Given the description of an element on the screen output the (x, y) to click on. 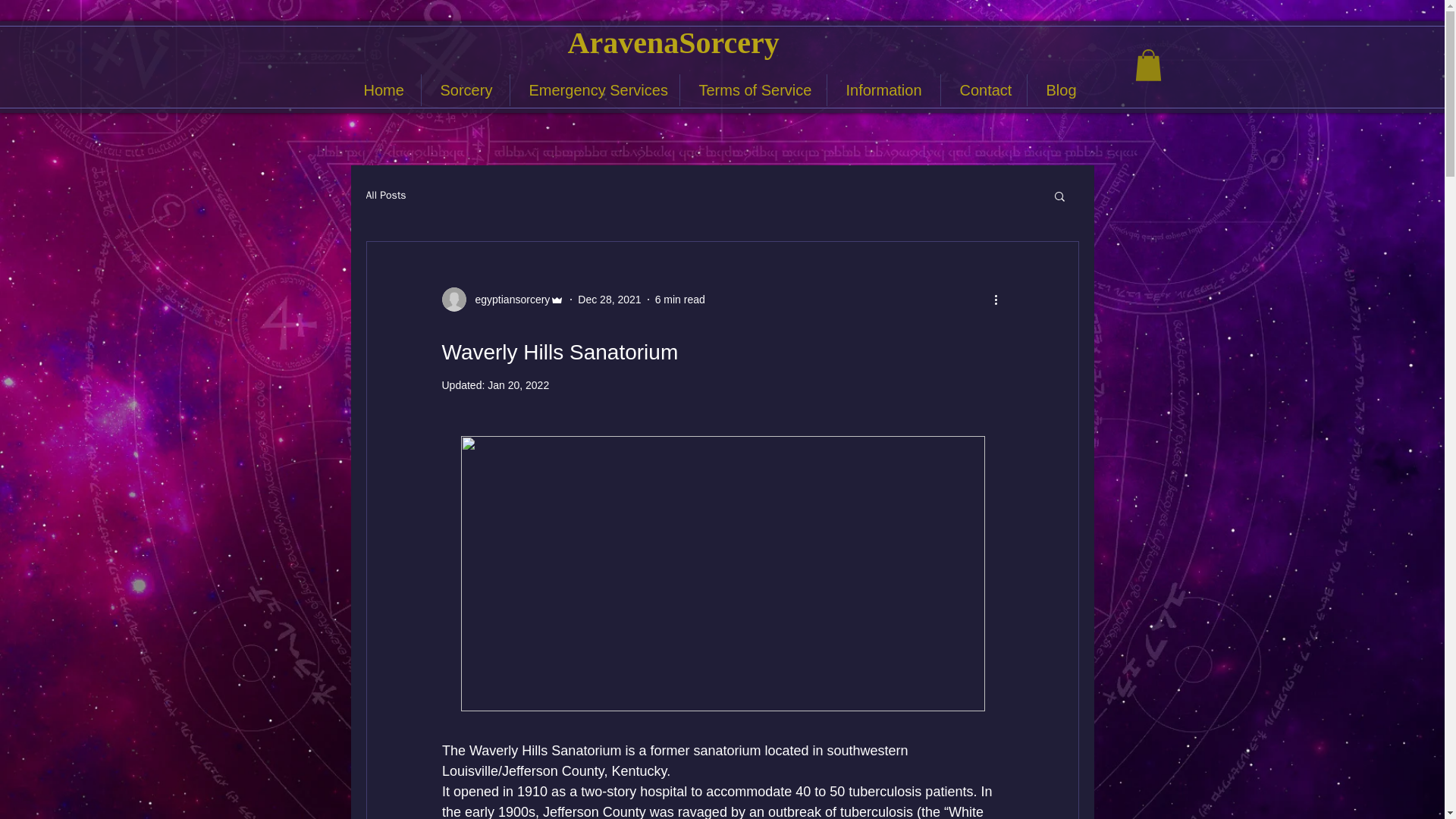
Terms of Service (752, 90)
Information (883, 90)
AravenaSorcery (672, 42)
Emergency Services (593, 90)
Dec 28, 2021 (609, 298)
Jan 20, 2022 (517, 385)
Sorcery (465, 90)
Contact (983, 90)
All Posts (385, 195)
egyptiansorcery (502, 299)
Blog (1059, 90)
egyptiansorcery (507, 299)
Home (381, 90)
6 min read (679, 298)
